Given the description of an element on the screen output the (x, y) to click on. 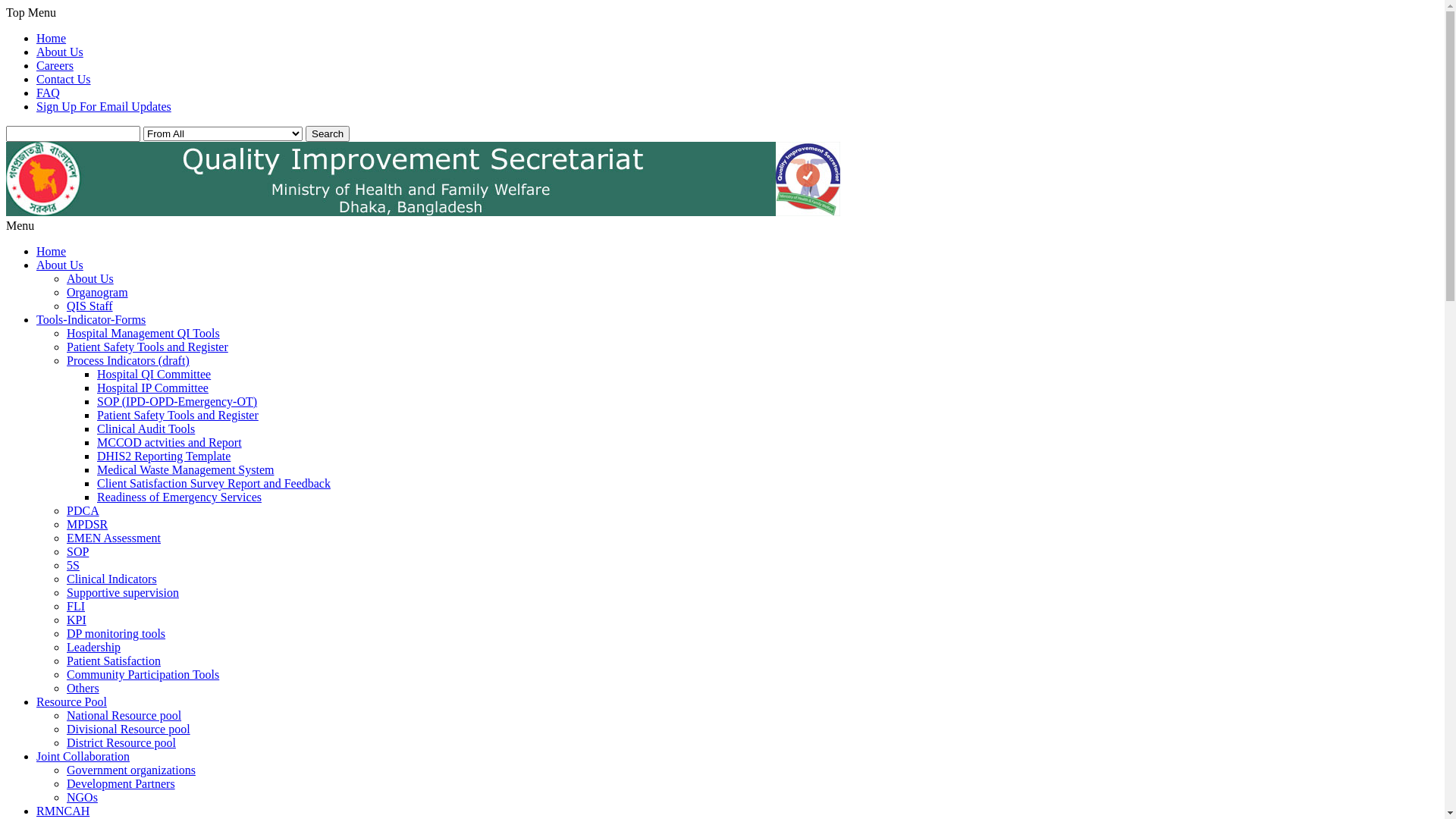
Development Partners Element type: text (120, 783)
Clinical Indicators Element type: text (111, 578)
Contact Us Element type: text (63, 78)
Client Satisfaction Survey Report and Feedback Element type: text (213, 482)
SOP (IPD-OPD-Emergency-OT) Element type: text (177, 401)
Hospital QI Committee Element type: text (153, 373)
Patient Safety Tools and Register Element type: text (147, 346)
KPI Element type: text (76, 619)
About Us Element type: text (89, 278)
Clinical Audit Tools Element type: text (145, 428)
Sign Up For Email Updates Element type: text (103, 106)
About Us Element type: text (59, 51)
5S Element type: text (72, 564)
NGOs Element type: text (81, 796)
PDCA Element type: text (82, 510)
Divisional Resource pool Element type: text (128, 728)
National Resource pool Element type: text (123, 715)
Resource Pool Element type: text (71, 701)
Hospital Management QI Tools Element type: text (142, 332)
Process Indicators (draft) Element type: text (127, 360)
Hospital IP Committee Element type: text (152, 387)
DHIS2 Reporting Template Element type: text (163, 455)
EMEN Assessment Element type: text (113, 537)
Readiness of Emergency Services Element type: text (179, 496)
FLI Element type: text (75, 605)
Supportive supervision Element type: text (122, 592)
MCCOD actvities and Report Element type: text (169, 442)
SOP Element type: text (77, 551)
DP monitoring tools Element type: text (115, 633)
RMNCAH Element type: text (62, 810)
Patient Safety Tools and Register Element type: text (177, 414)
Home Element type: text (50, 250)
About Us Element type: text (59, 264)
Home Element type: text (50, 37)
Careers Element type: text (54, 65)
MPDSR Element type: text (86, 523)
QIS Staff Element type: text (89, 305)
District Resource pool Element type: text (120, 742)
Community Participation Tools Element type: text (142, 674)
Organogram Element type: text (97, 291)
Search Element type: text (327, 133)
Tools-Indicator-Forms Element type: text (90, 319)
Joint Collaboration Element type: text (82, 755)
Others Element type: text (82, 687)
Medical Waste Management System Element type: text (185, 469)
Government organizations Element type: text (130, 769)
Patient Satisfaction Element type: text (113, 660)
Leadership Element type: text (93, 646)
FAQ Element type: text (47, 92)
